Given the description of an element on the screen output the (x, y) to click on. 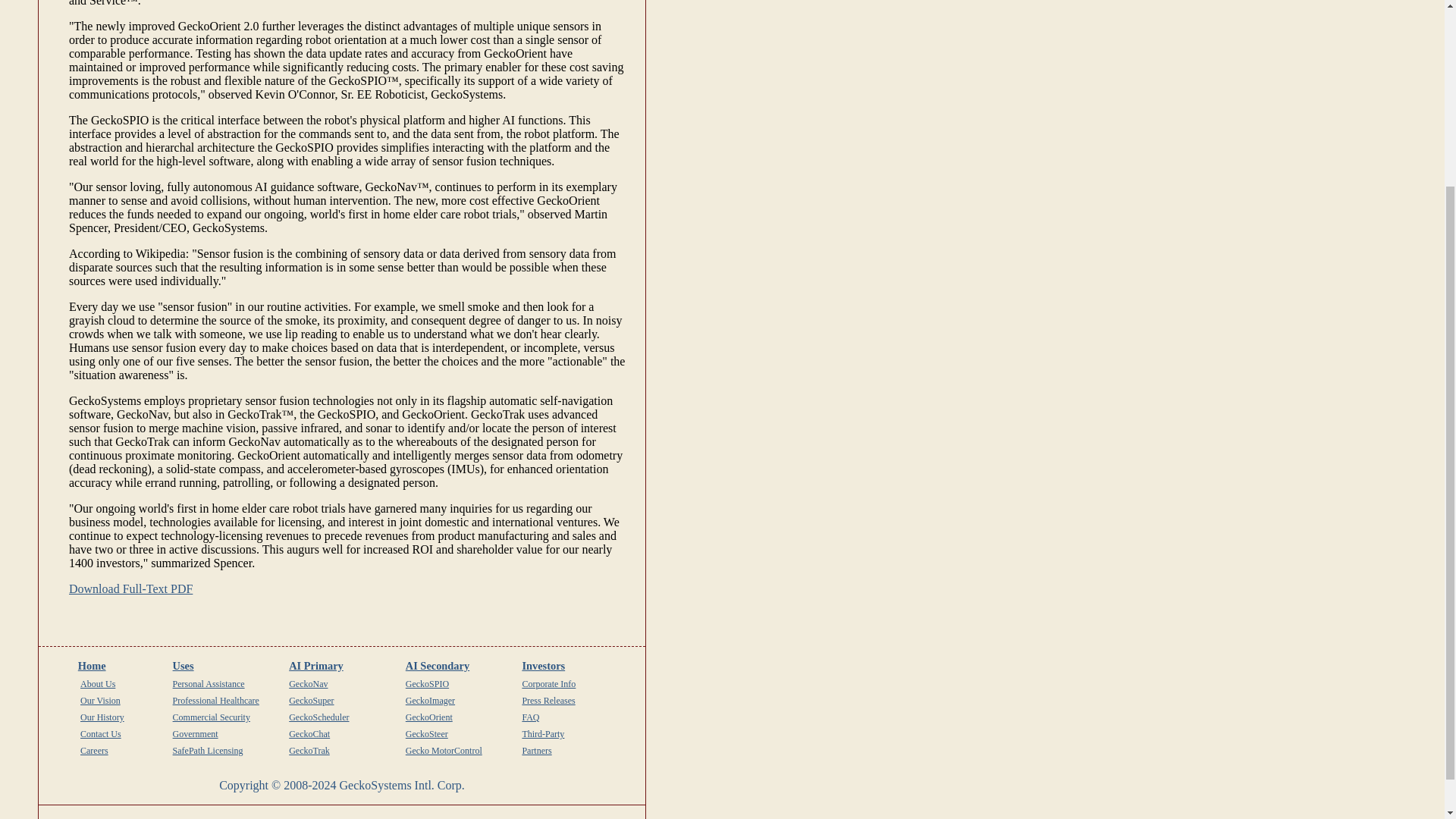
Uses (183, 665)
Download Full-Text PDF (130, 588)
About Us (97, 683)
AI Secondary (437, 665)
AI Primary (315, 665)
Investors (542, 665)
Home (92, 665)
Personal Assistance (208, 683)
